Given the description of an element on the screen output the (x, y) to click on. 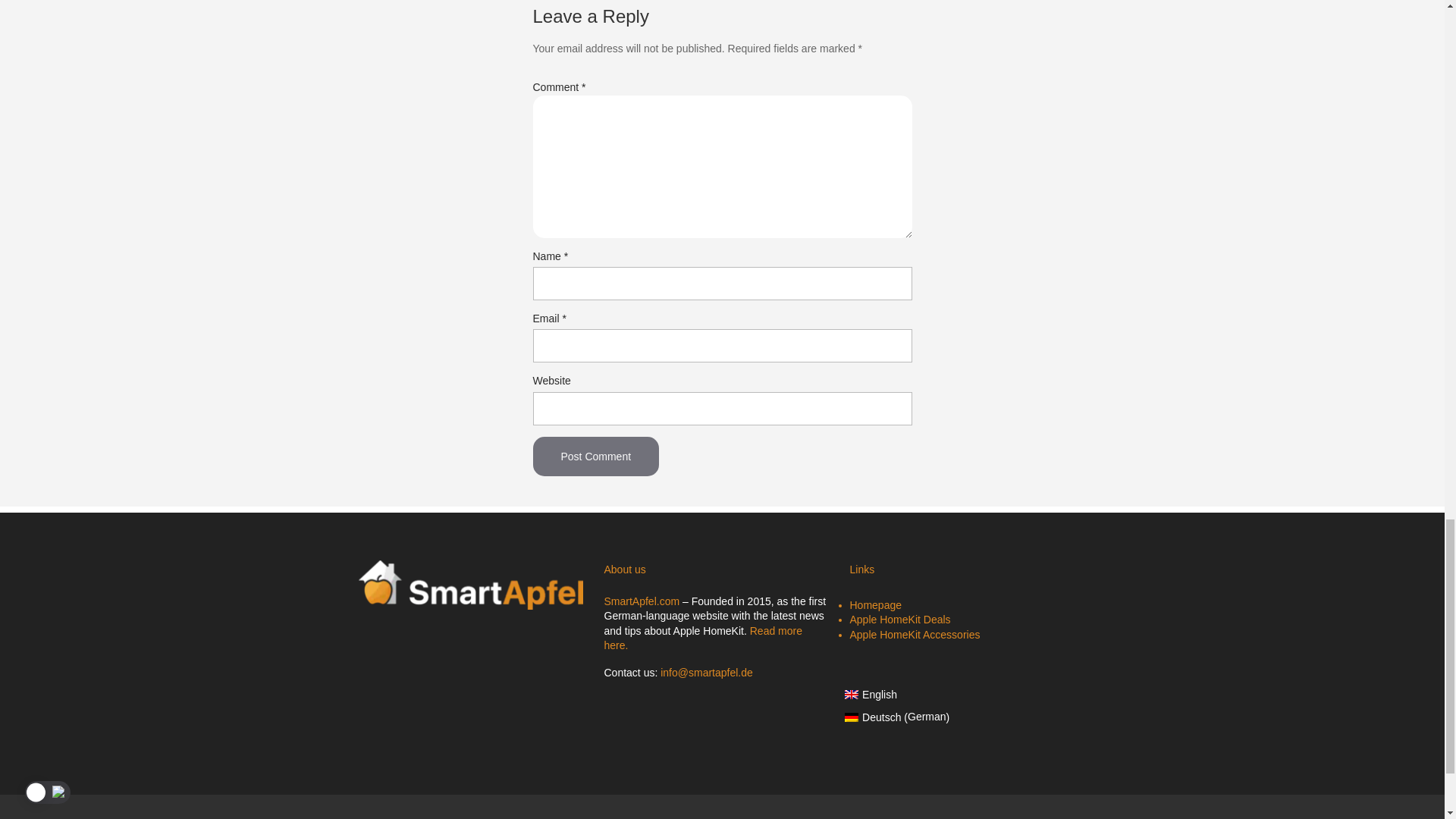
English (897, 688)
Post Comment (595, 455)
Post Comment (595, 455)
Apple HomeKit Accessories (913, 634)
About us (510, 818)
Read more here. (703, 637)
Homepage (874, 604)
Apple HomeKit Deals (899, 619)
